Given the description of an element on the screen output the (x, y) to click on. 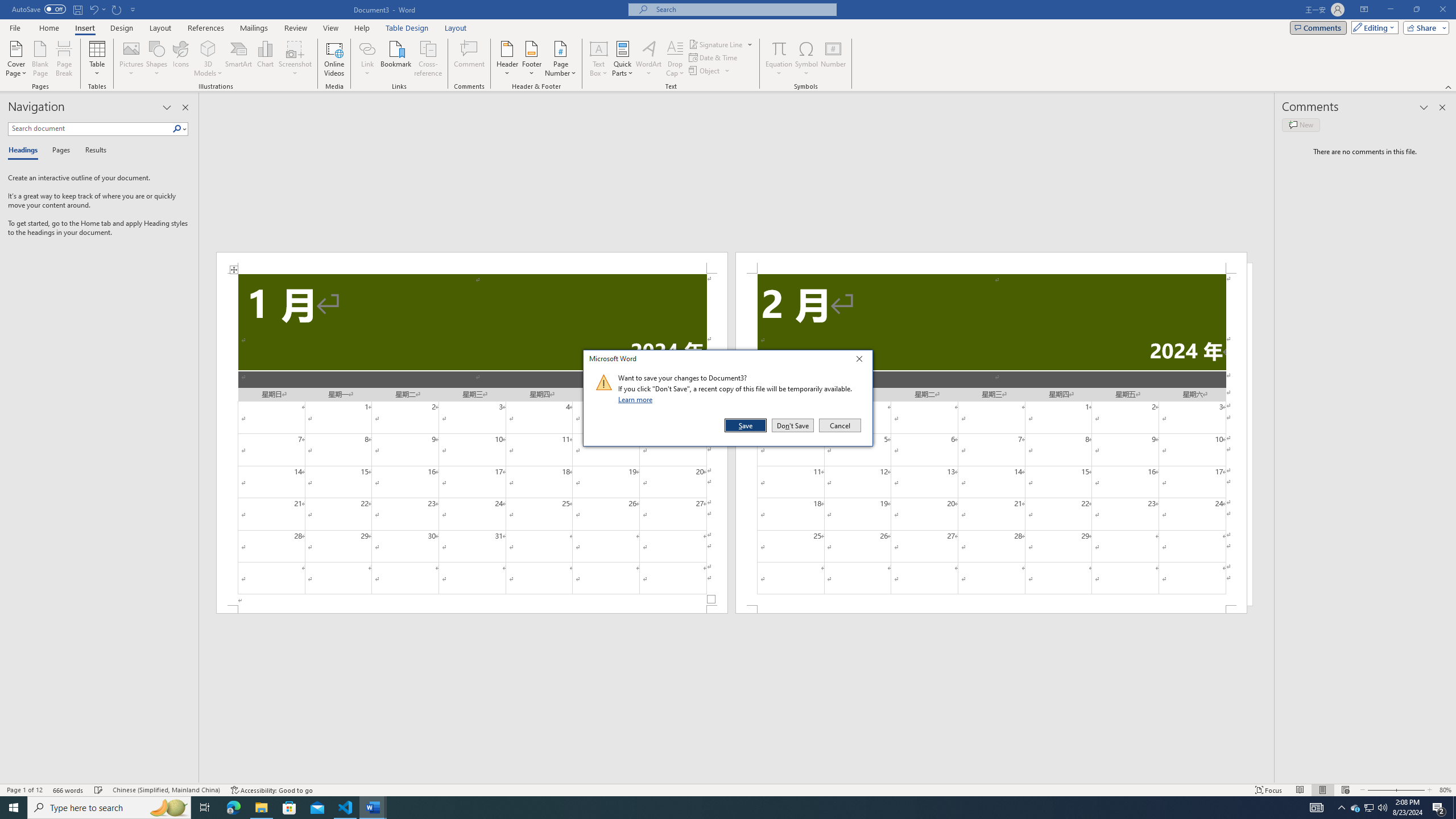
3D Models (208, 48)
Signature Line (721, 44)
3D Models (208, 58)
Microsoft Edge (233, 807)
Text Box (598, 58)
